Given the description of an element on the screen output the (x, y) to click on. 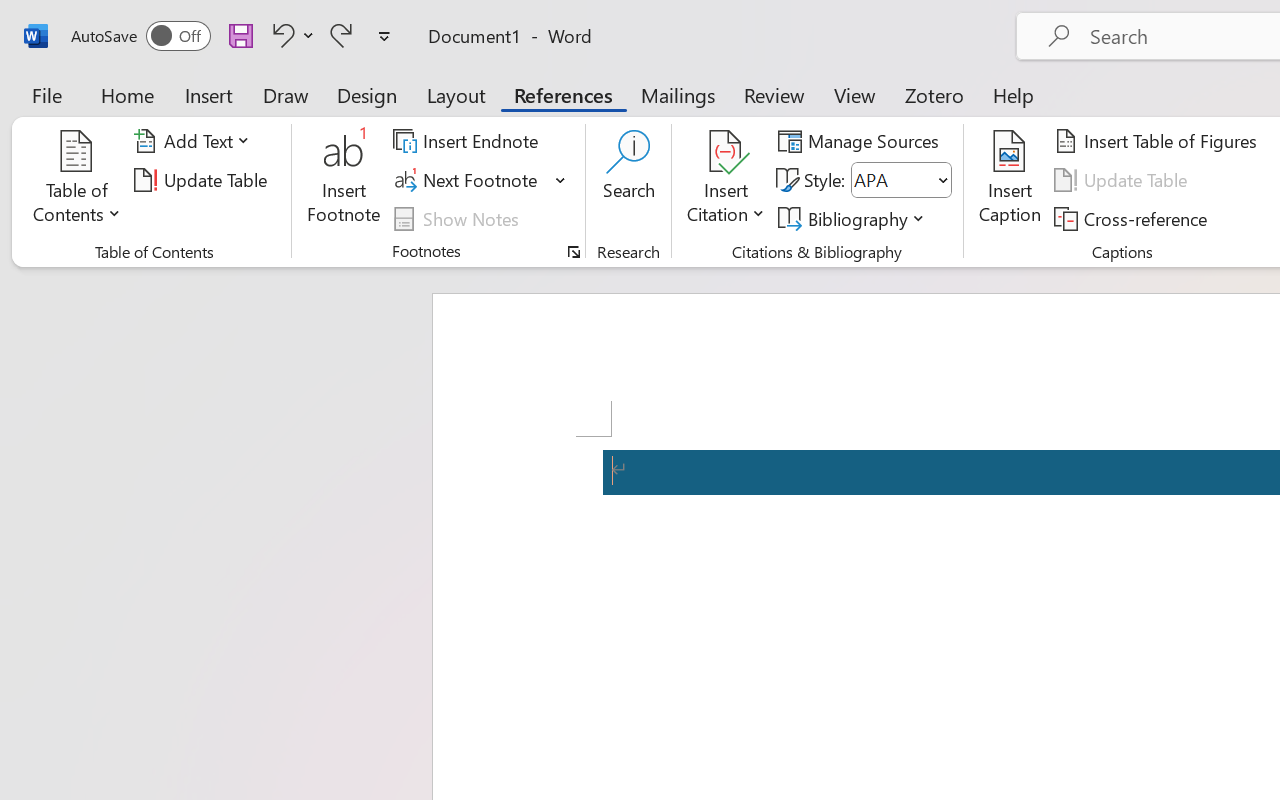
Next Footnote (479, 179)
Undo Apply Quick Style Set (290, 35)
Update Table (1124, 179)
Style (901, 179)
Update Table... (204, 179)
Insert Table of Figures... (1158, 141)
Bibliography (854, 218)
Next Footnote (468, 179)
